Given the description of an element on the screen output the (x, y) to click on. 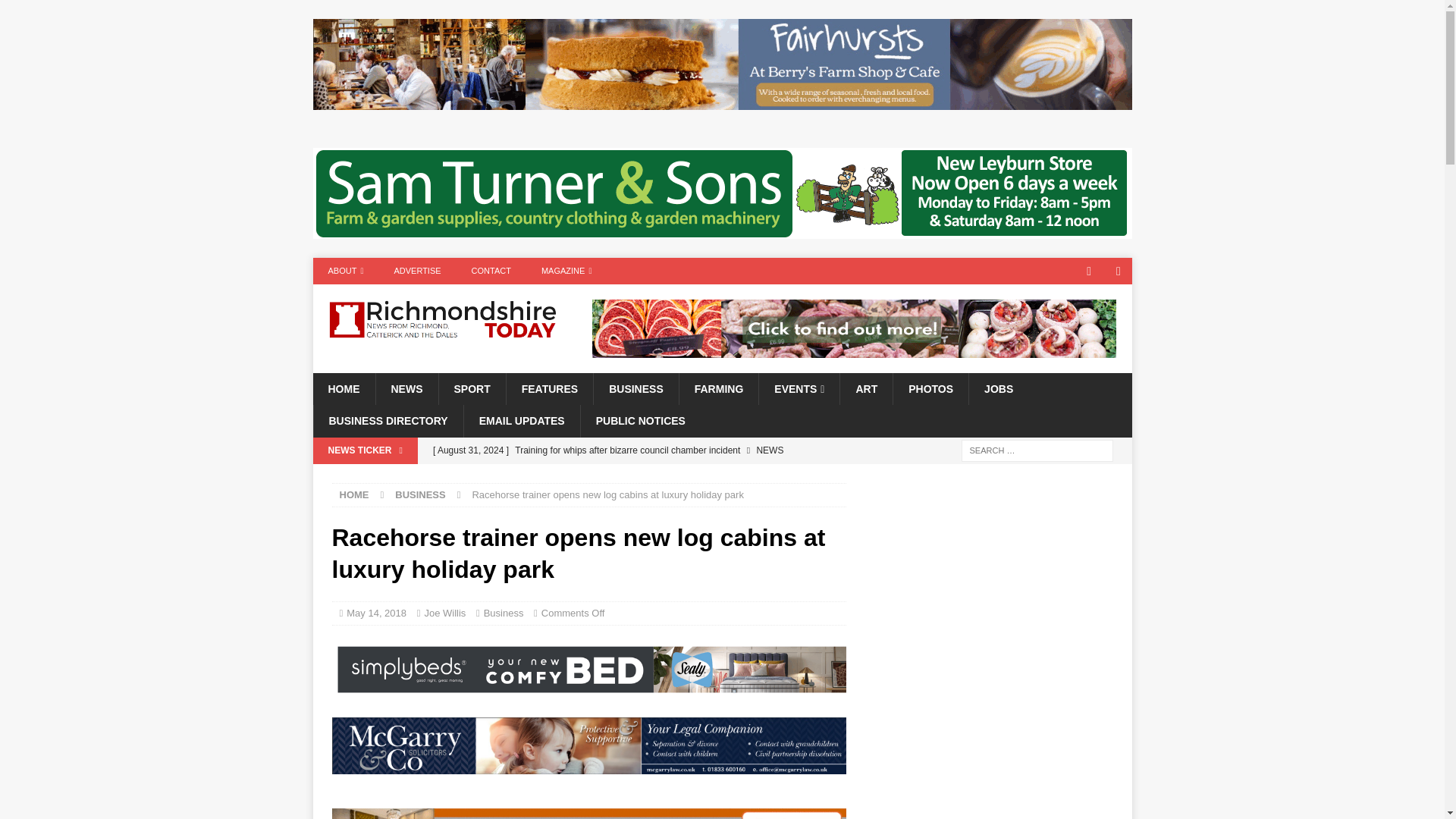
JOBS (997, 388)
ADVERTISE (416, 270)
FARMING (718, 388)
Training for whips after bizarre council chamber incident (634, 450)
PUBLIC NOTICES (639, 420)
BUSINESS DIRECTORY (388, 420)
SPORT (471, 388)
PHOTOS (930, 388)
Search (56, 11)
EMAIL UPDATES (521, 420)
